Given the description of an element on the screen output the (x, y) to click on. 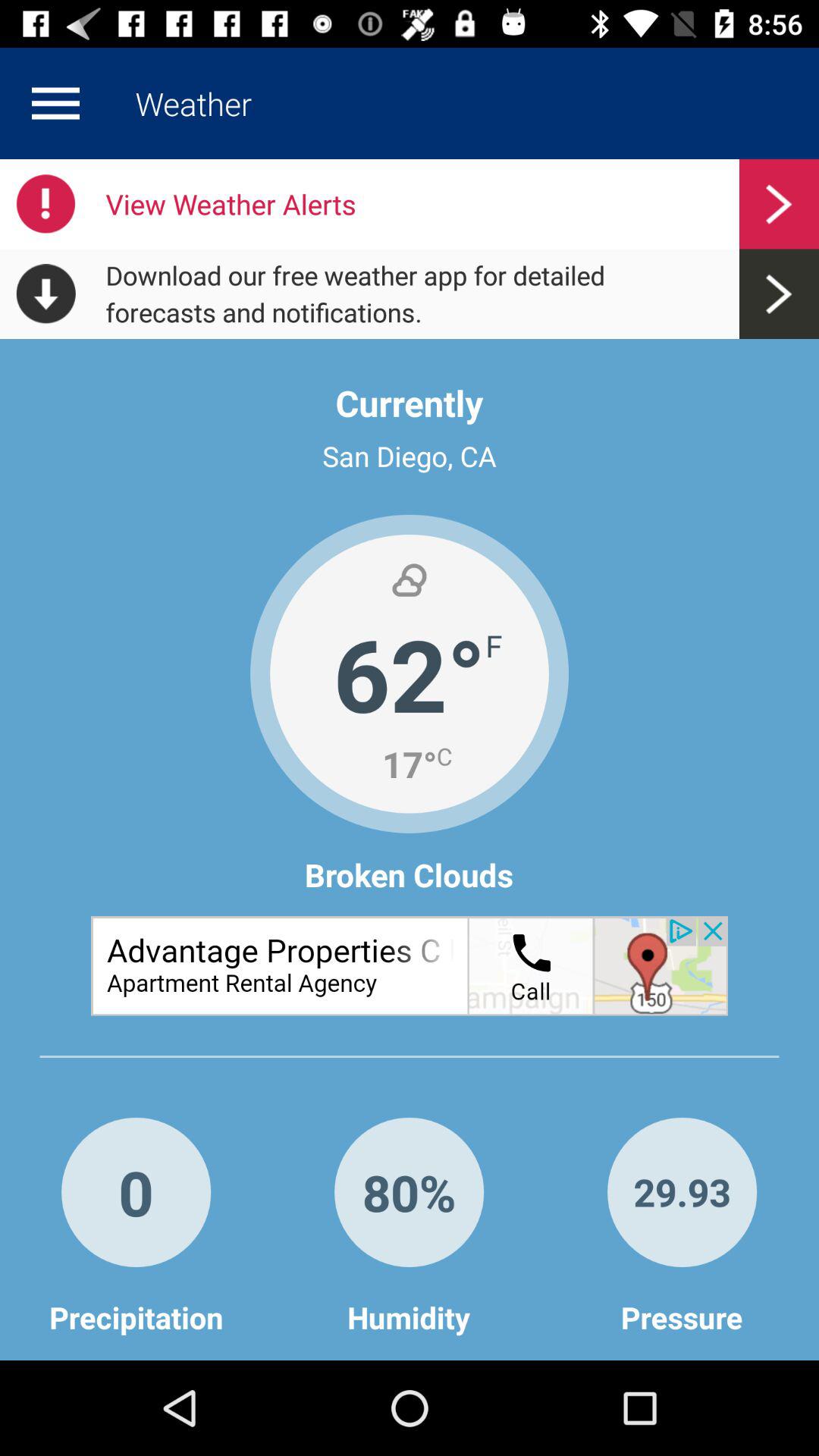
display menu options (55, 103)
